Given the description of an element on the screen output the (x, y) to click on. 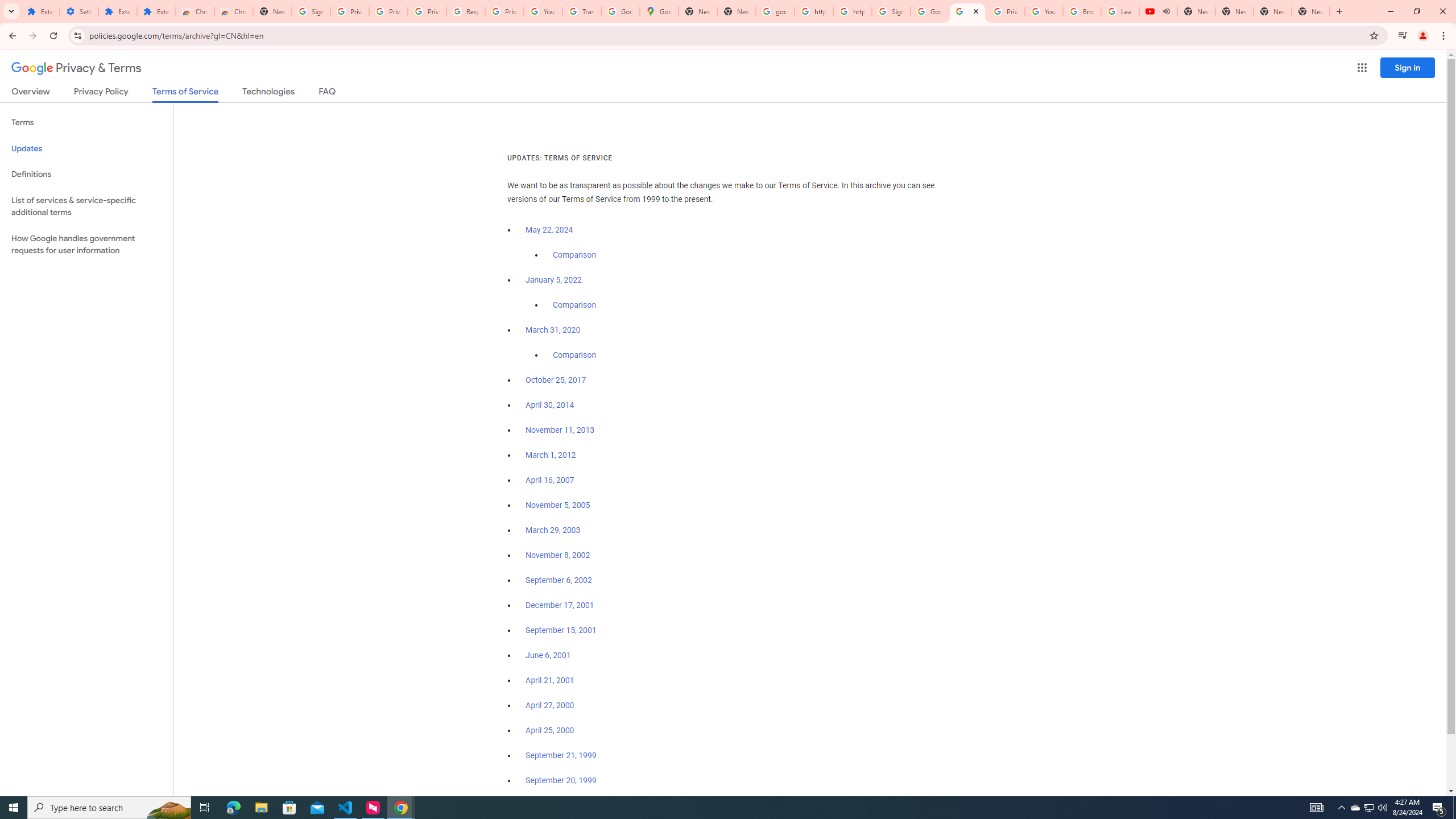
Sign in - Google Accounts (890, 11)
Definitions (86, 174)
September 15, 2001 (560, 629)
March 1, 2012 (550, 455)
Sign in - Google Accounts (310, 11)
Extensions (117, 11)
https://scholar.google.com/ (813, 11)
